Given the description of an element on the screen output the (x, y) to click on. 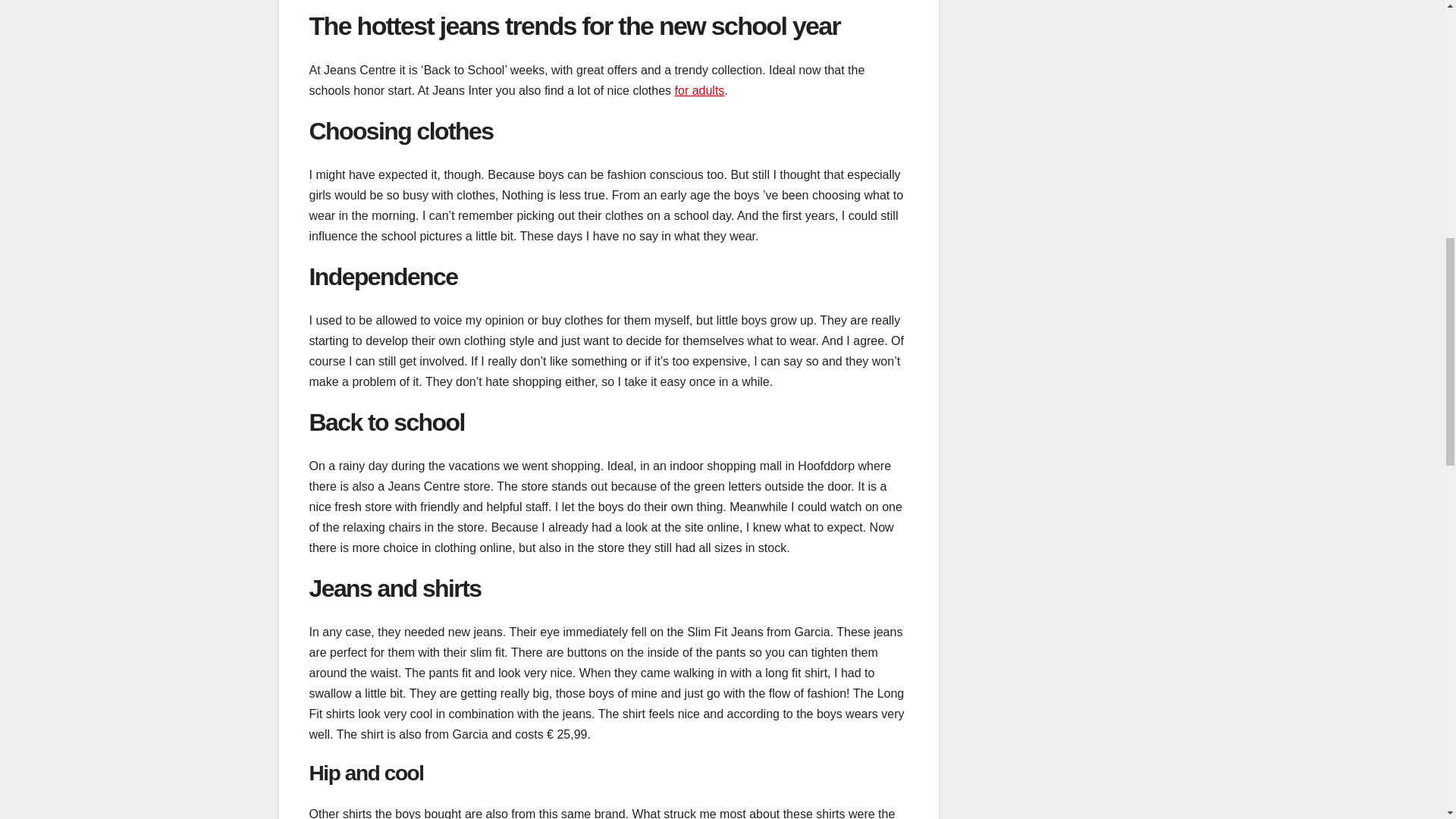
for adults (700, 90)
